Given the description of an element on the screen output the (x, y) to click on. 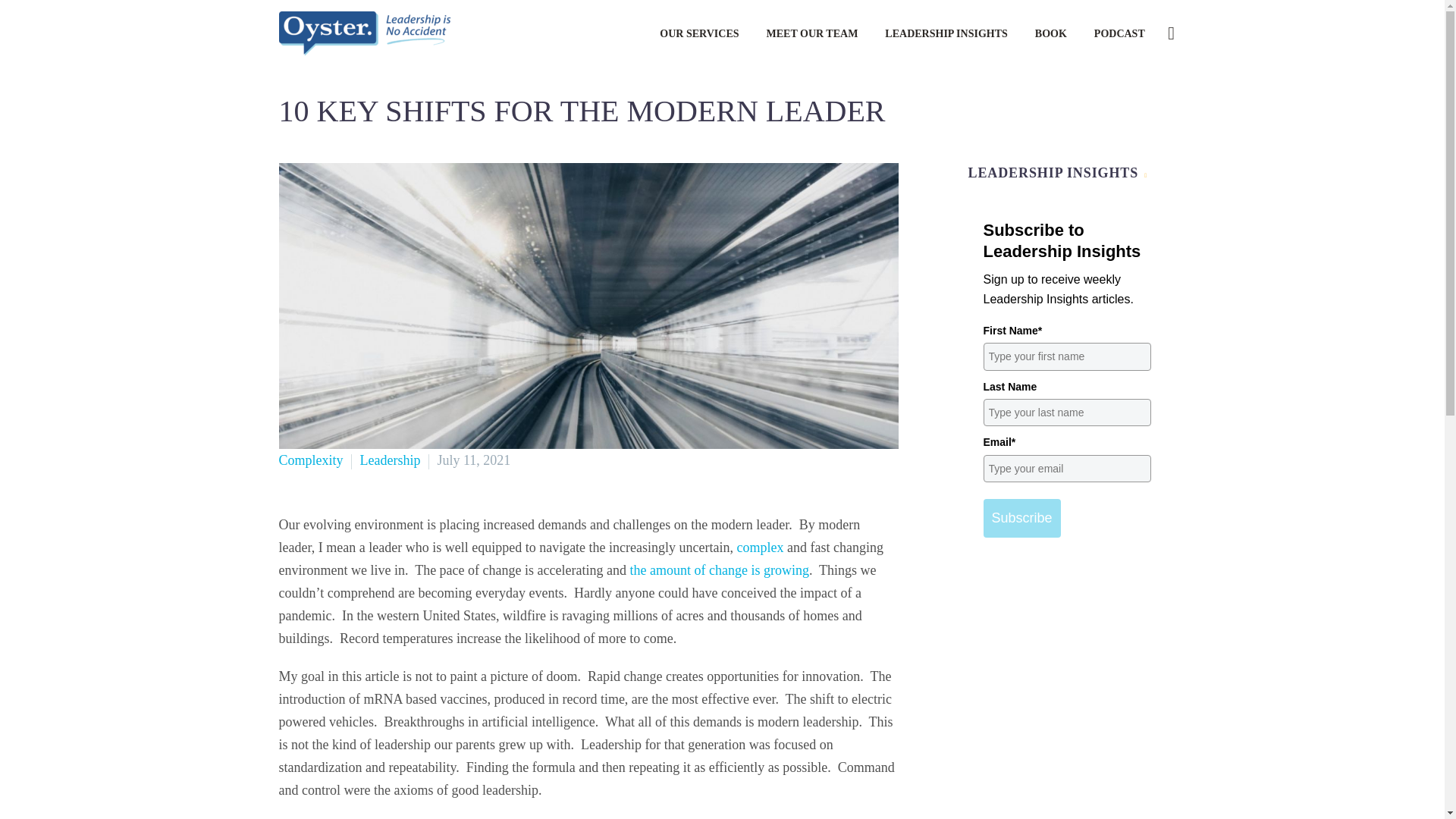
Complexity (311, 459)
PODCAST (1119, 33)
s (1323, 113)
MEET OUR TEAM (812, 33)
the amount of change is growing (718, 570)
View all posts in Complexity (311, 459)
Subscribe (1020, 517)
View all posts in Leadership (389, 459)
LEADERSHIP INSIGHTS (945, 33)
OUR SERVICES (698, 33)
